Given the description of an element on the screen output the (x, y) to click on. 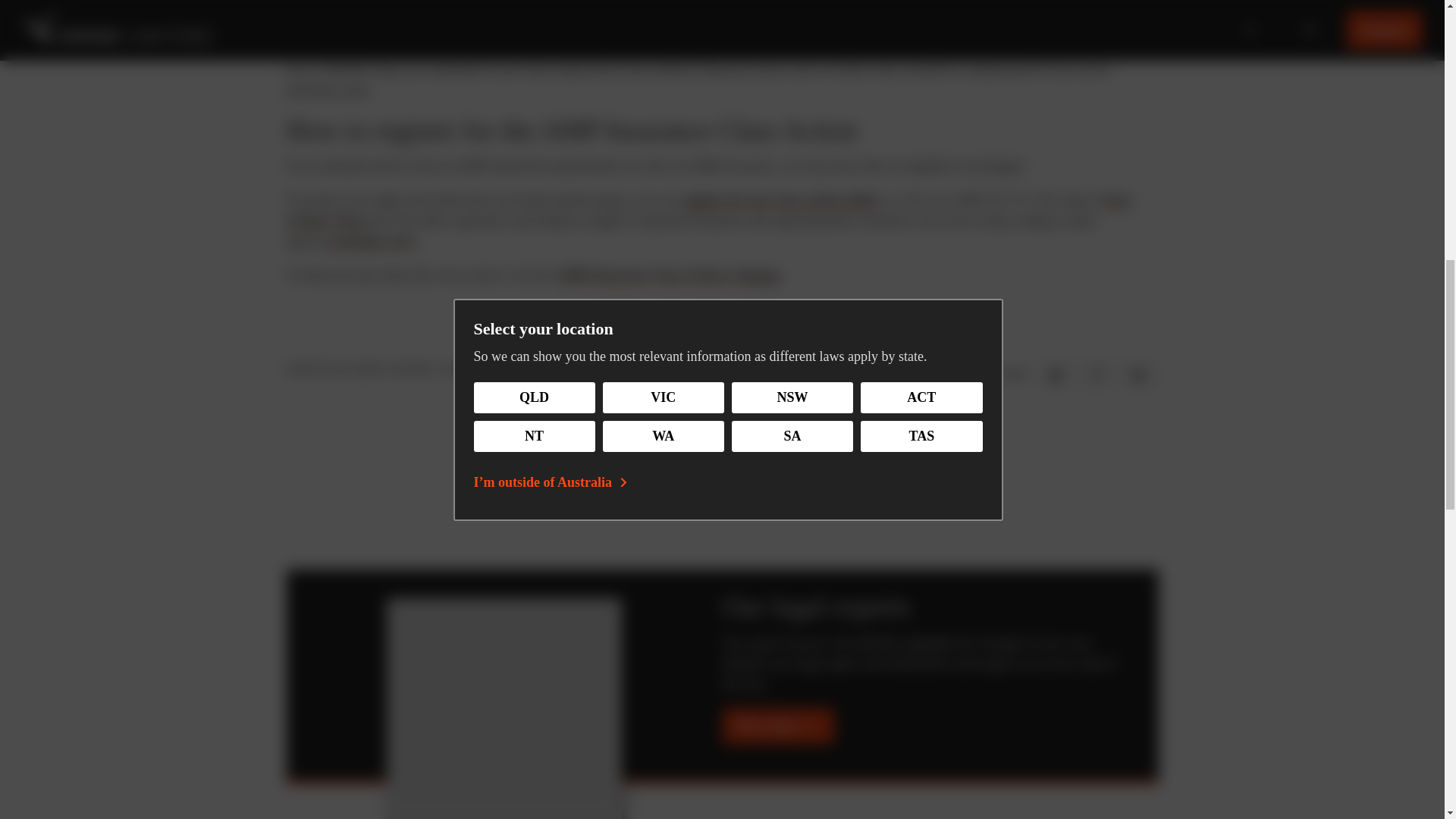
View team (777, 725)
Class Actions Team (709, 210)
AMP Insurance Class Action webpage (668, 275)
register for our class action online (779, 200)
premium rorts (372, 241)
